Given the description of an element on the screen output the (x, y) to click on. 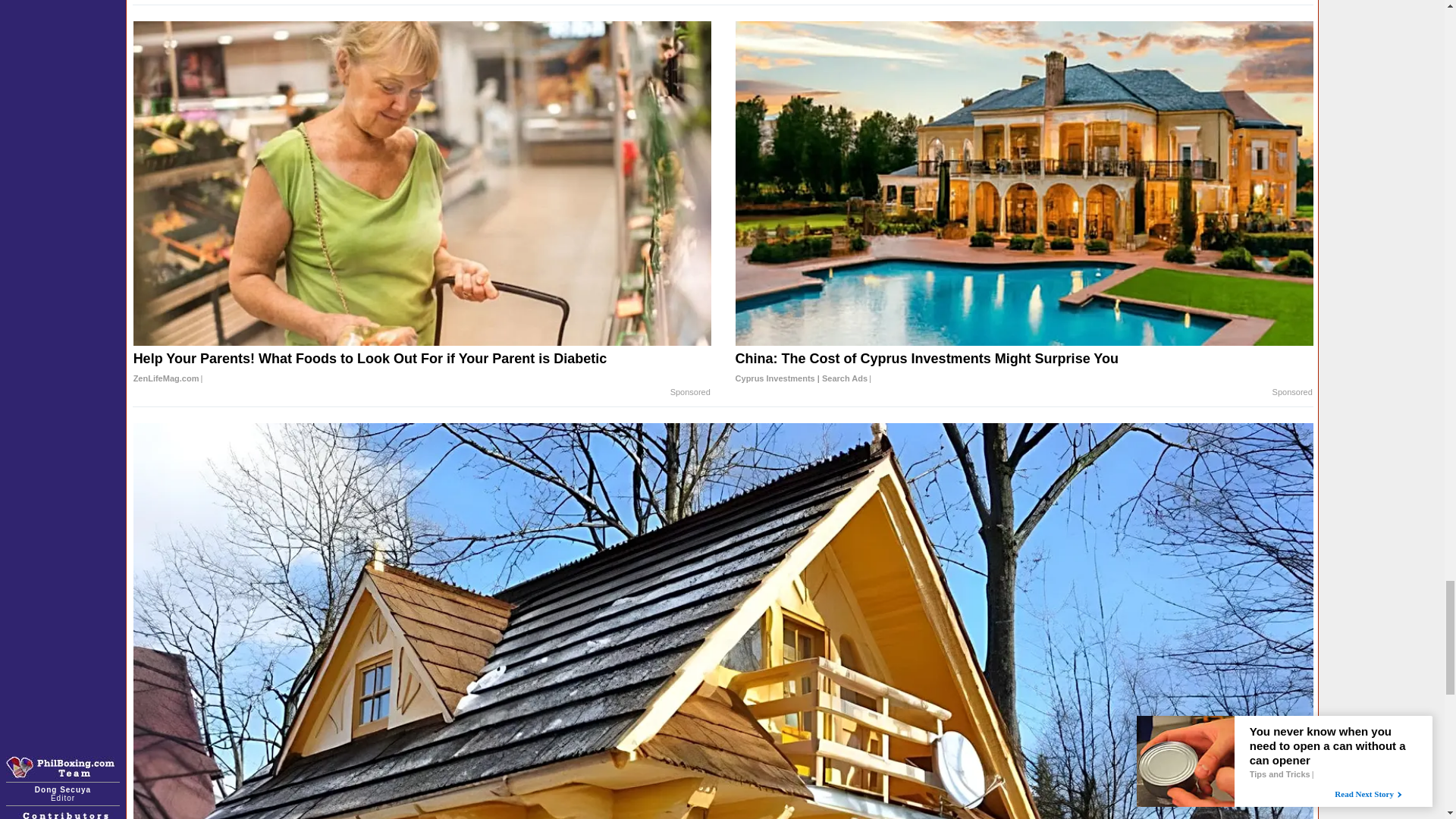
Dong Secuya (62, 789)
